Given the description of an element on the screen output the (x, y) to click on. 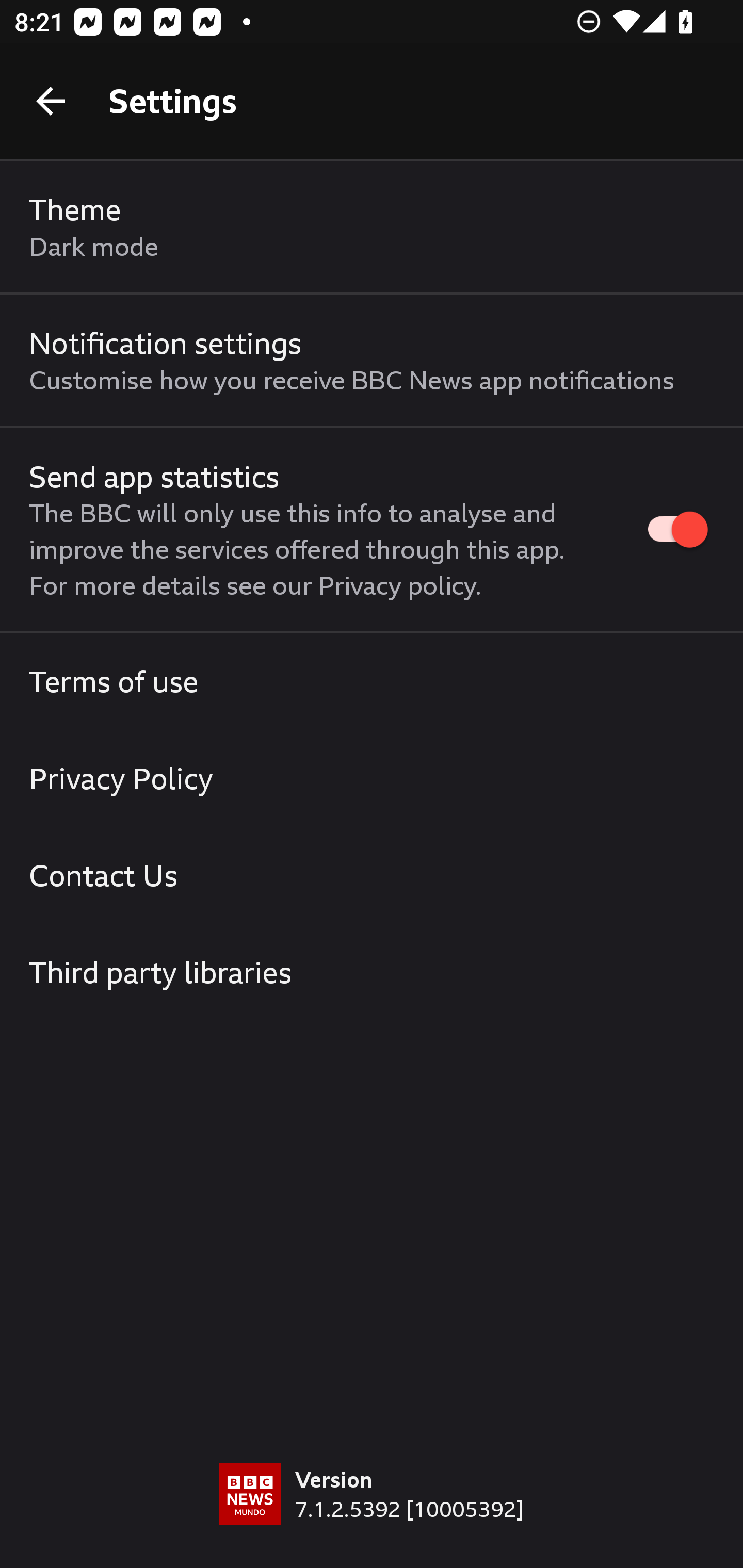
Back (50, 101)
Theme Dark mode (371, 227)
Terms of use (371, 681)
Privacy Policy (371, 777)
Contact Us (371, 874)
Third party libraries (371, 971)
Version 7.1.2.5392 [10005392] (371, 1515)
